Given the description of an element on the screen output the (x, y) to click on. 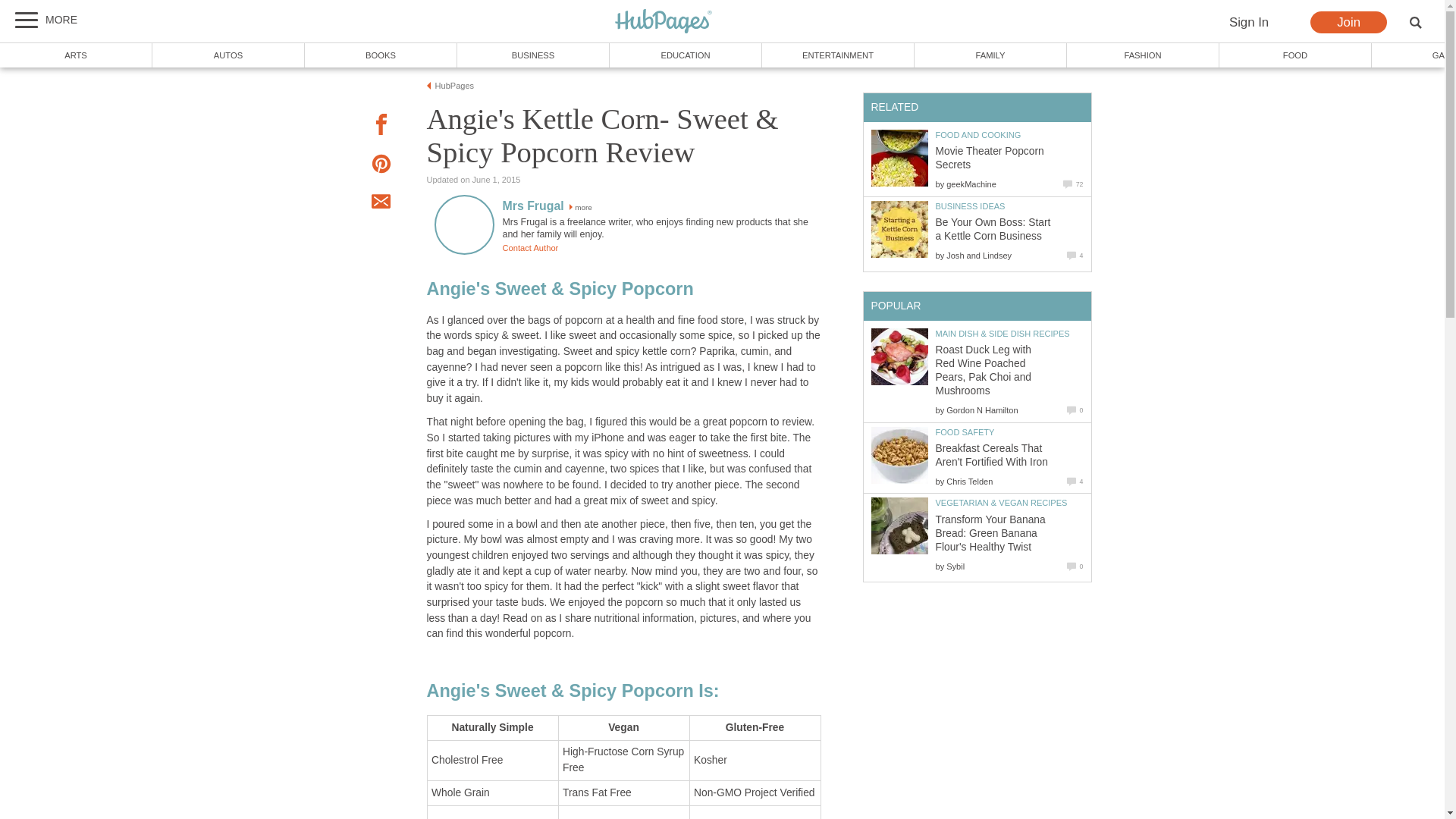
Movie Theater Popcorn Secrets (898, 157)
Mrs Frugal more (546, 207)
ENTERTAINMENT (837, 55)
AUTOS (228, 55)
Join (1348, 22)
Email (380, 203)
Movie Theater Popcorn Secrets (989, 157)
FAMILY (990, 55)
